Given the description of an element on the screen output the (x, y) to click on. 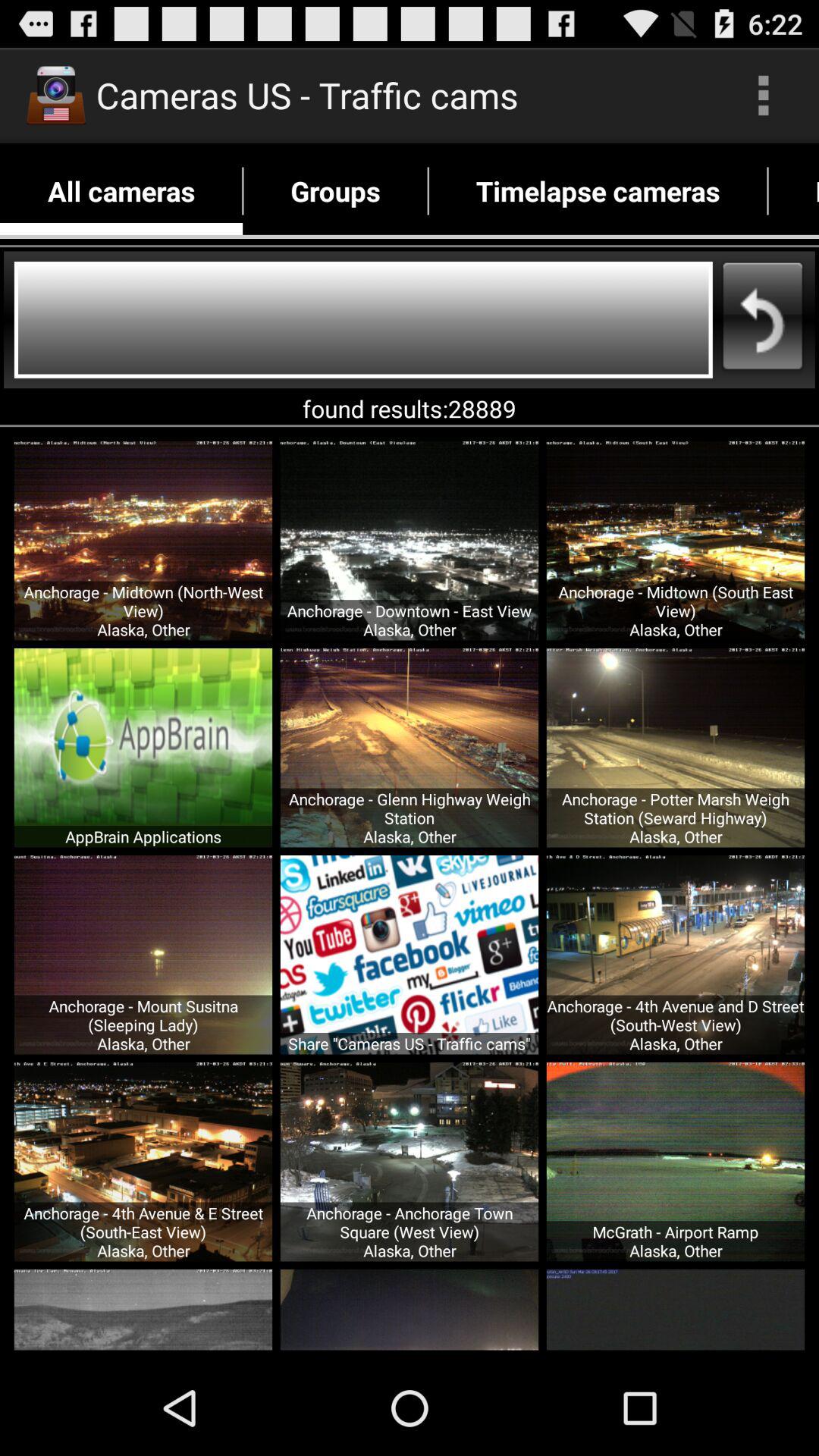
flip to groups app (335, 190)
